Given the description of an element on the screen output the (x, y) to click on. 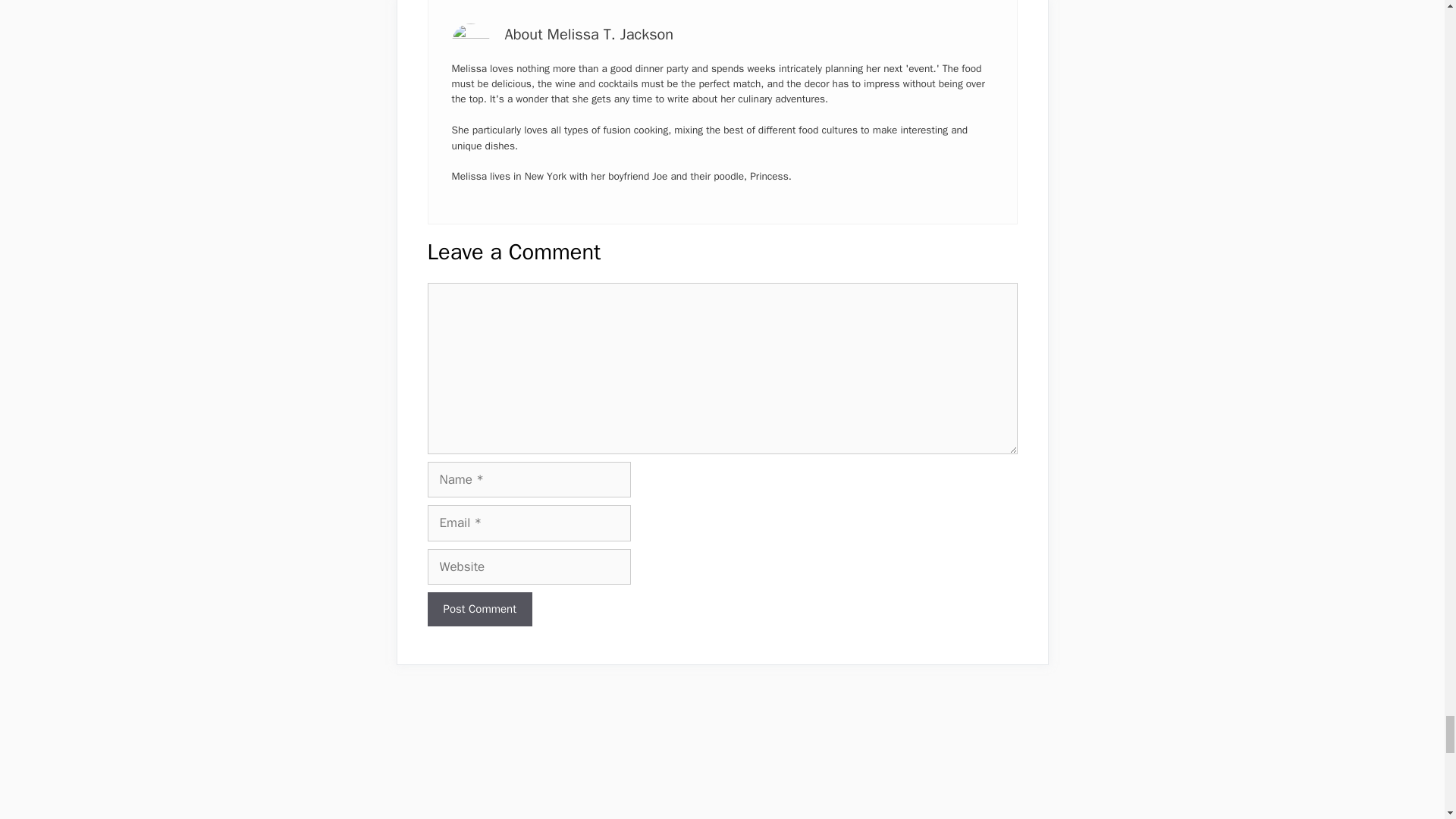
Post Comment (480, 609)
